Given the description of an element on the screen output the (x, y) to click on. 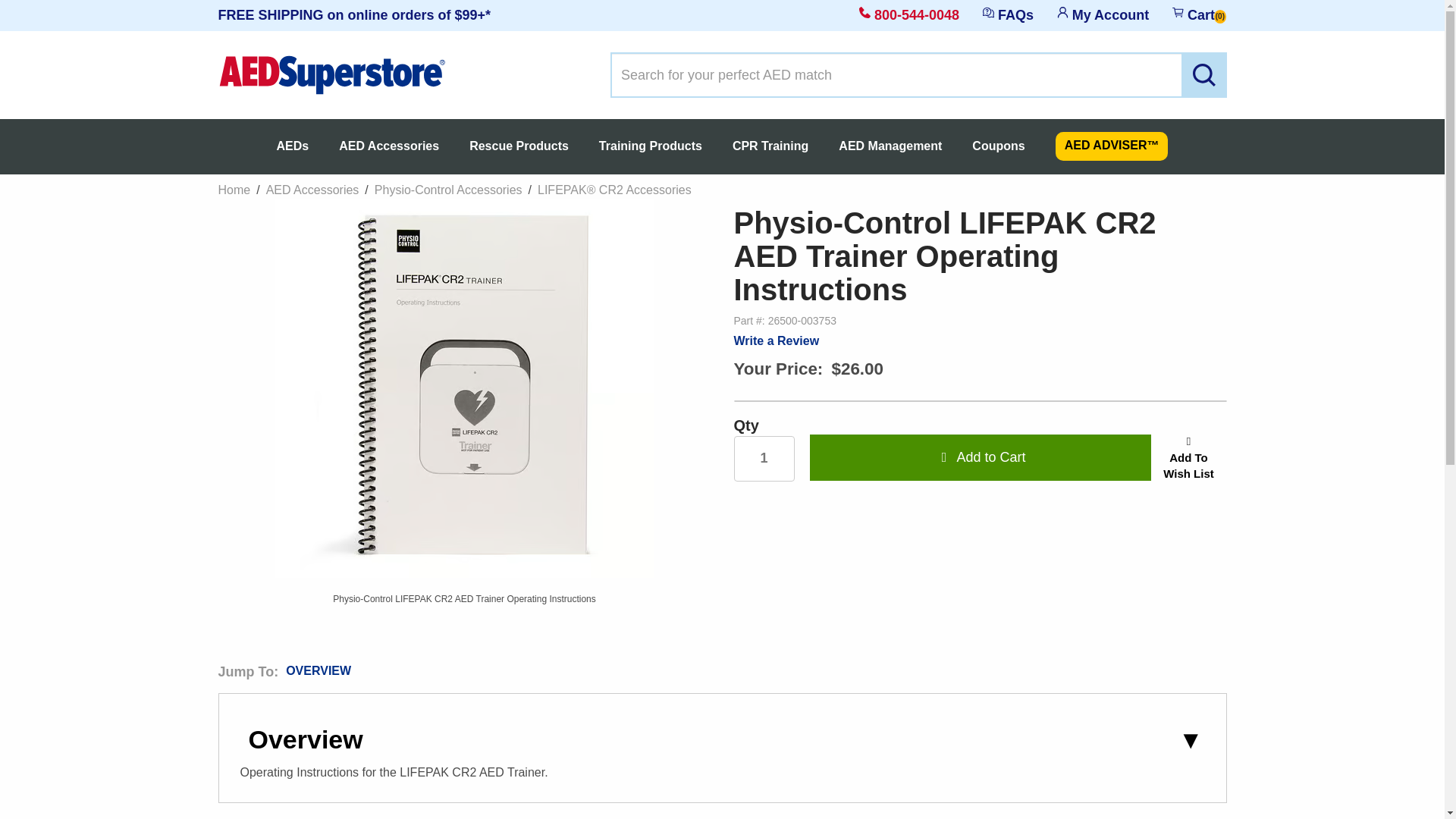
AEDs (293, 145)
1 (763, 458)
My Account (1102, 15)
800-544-0048 (909, 16)
AEDSuperstore (331, 73)
FAQs (1008, 15)
AED Accessories (388, 145)
OVERVIEW (317, 670)
